Given the description of an element on the screen output the (x, y) to click on. 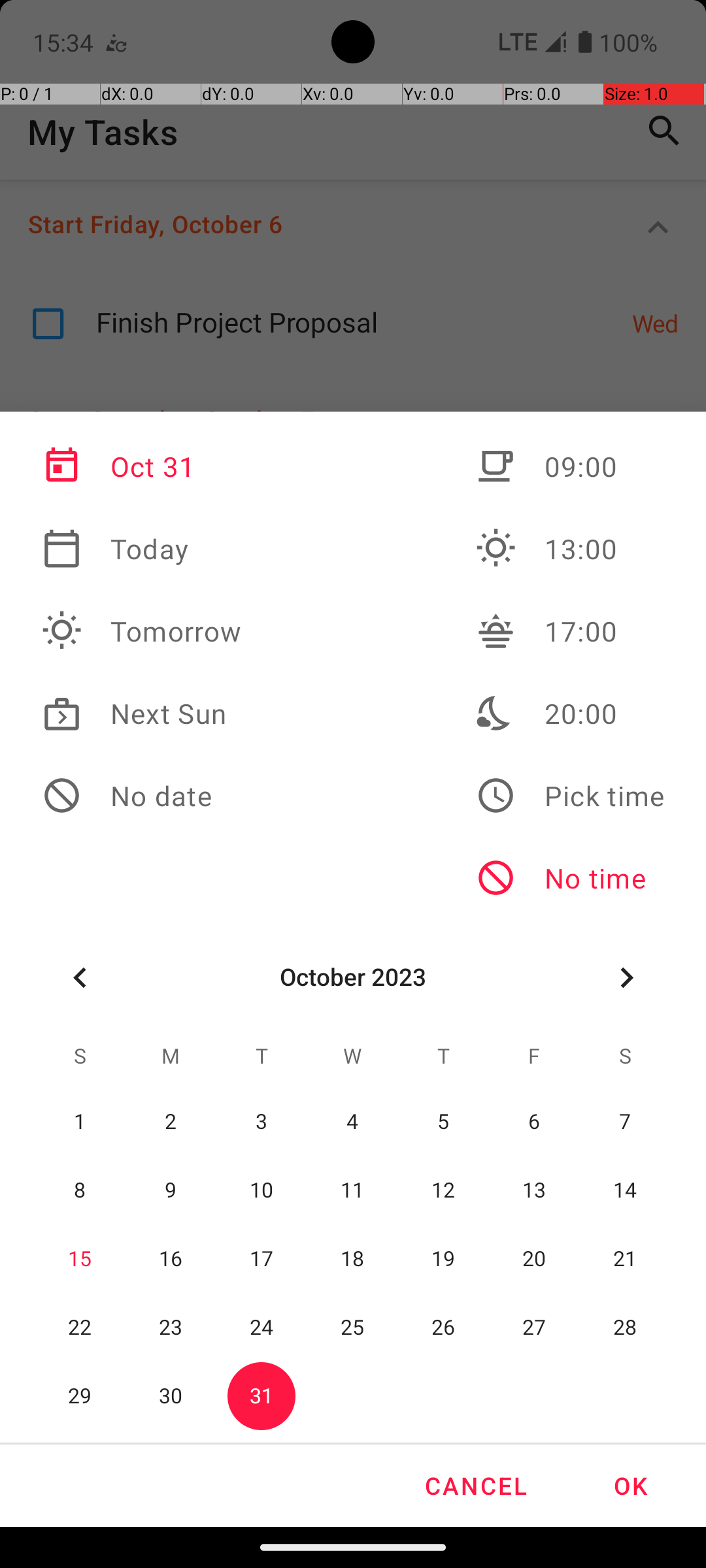
Oct 31 Element type: android.widget.CompoundButton (141, 466)
